Given the description of an element on the screen output the (x, y) to click on. 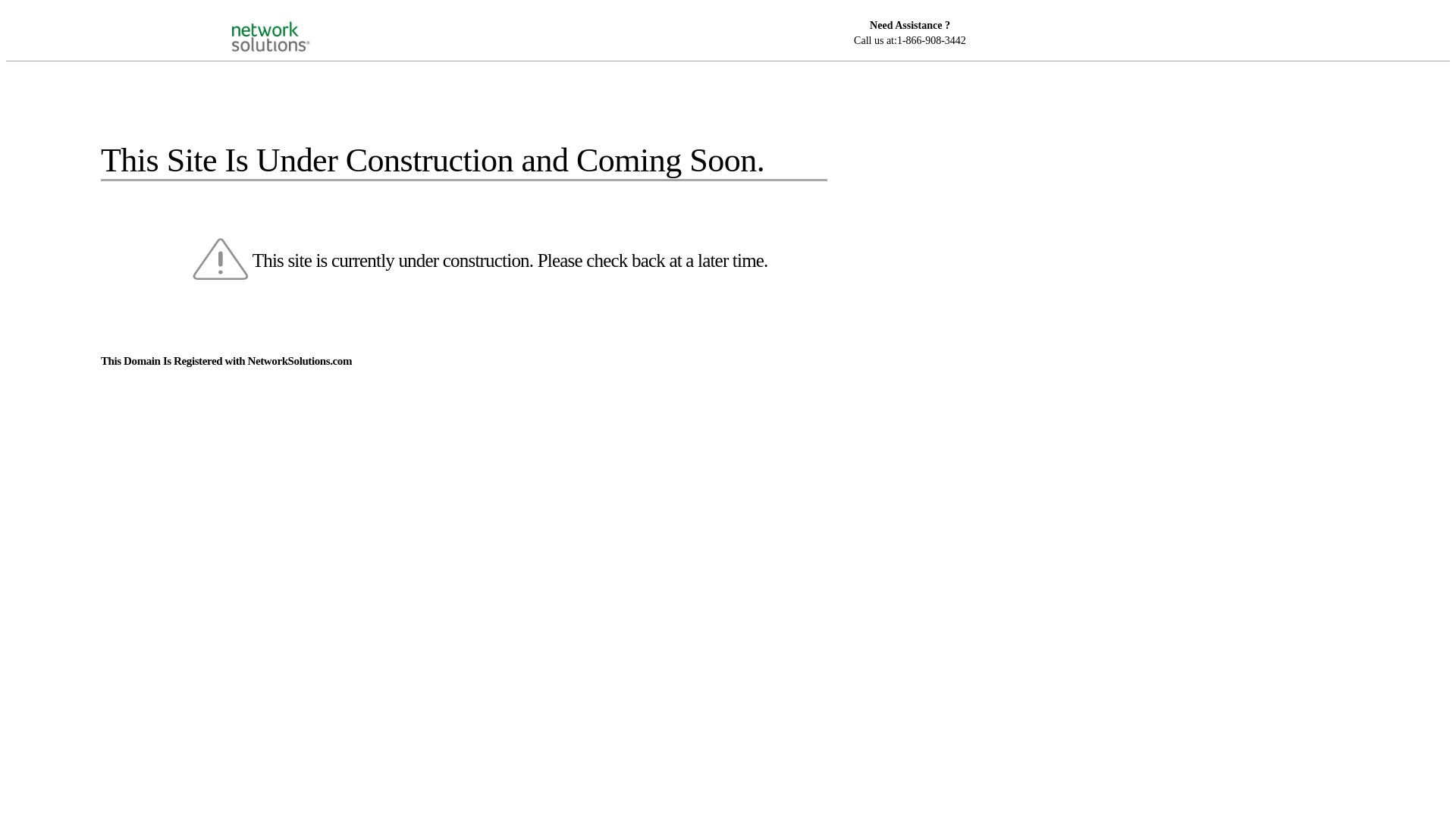
NetworkSolutions.com Home Element type: hover (289, 23)
